Given the description of an element on the screen output the (x, y) to click on. 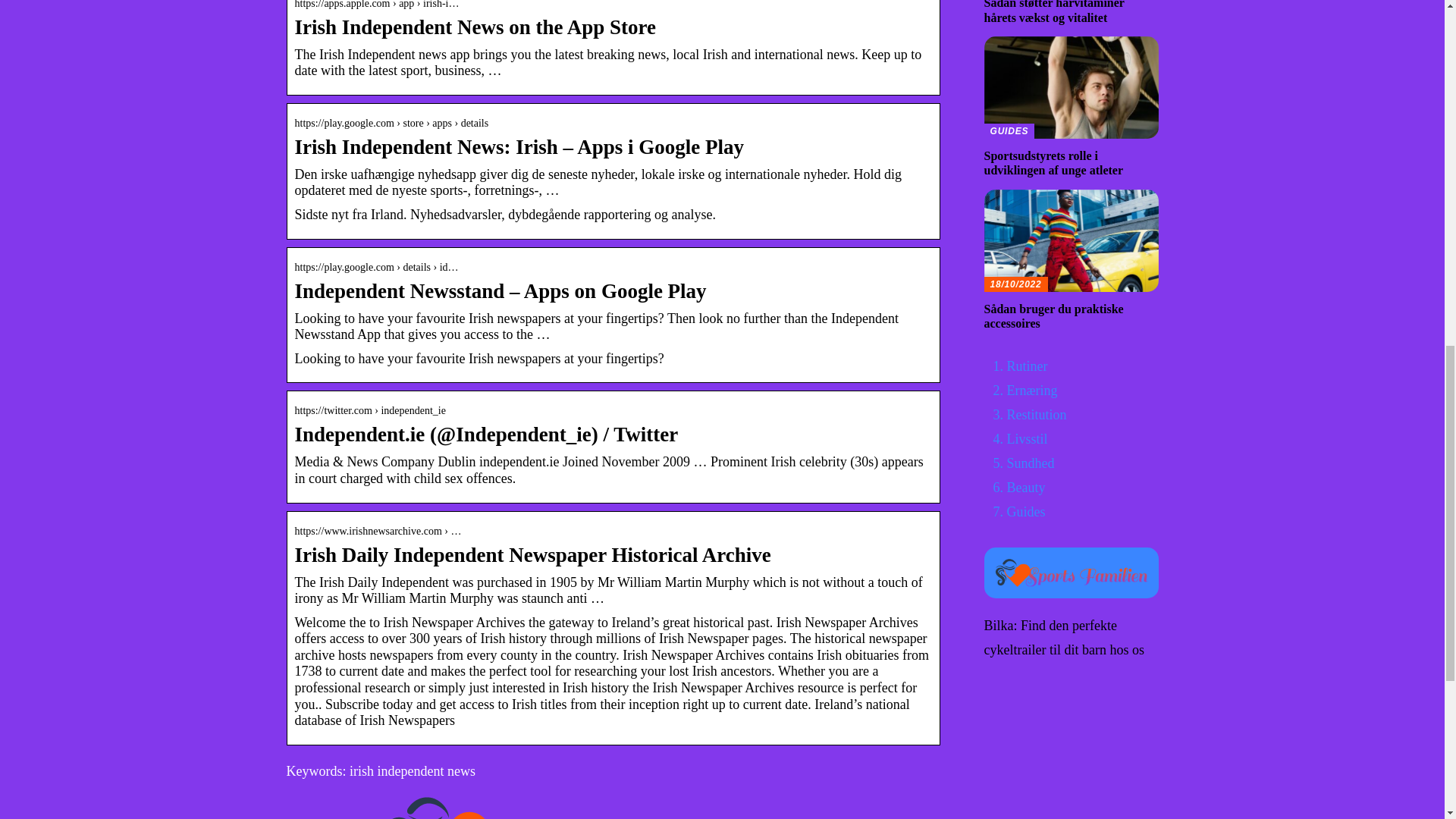
Livsstil (1027, 438)
Guides (1026, 511)
Bilka: Find den perfekte cykeltrailer til dit barn hos os (1064, 637)
Rutiner (1027, 365)
Beauty (1026, 487)
Sundhed (1071, 107)
Restitution (1030, 462)
